Given the description of an element on the screen output the (x, y) to click on. 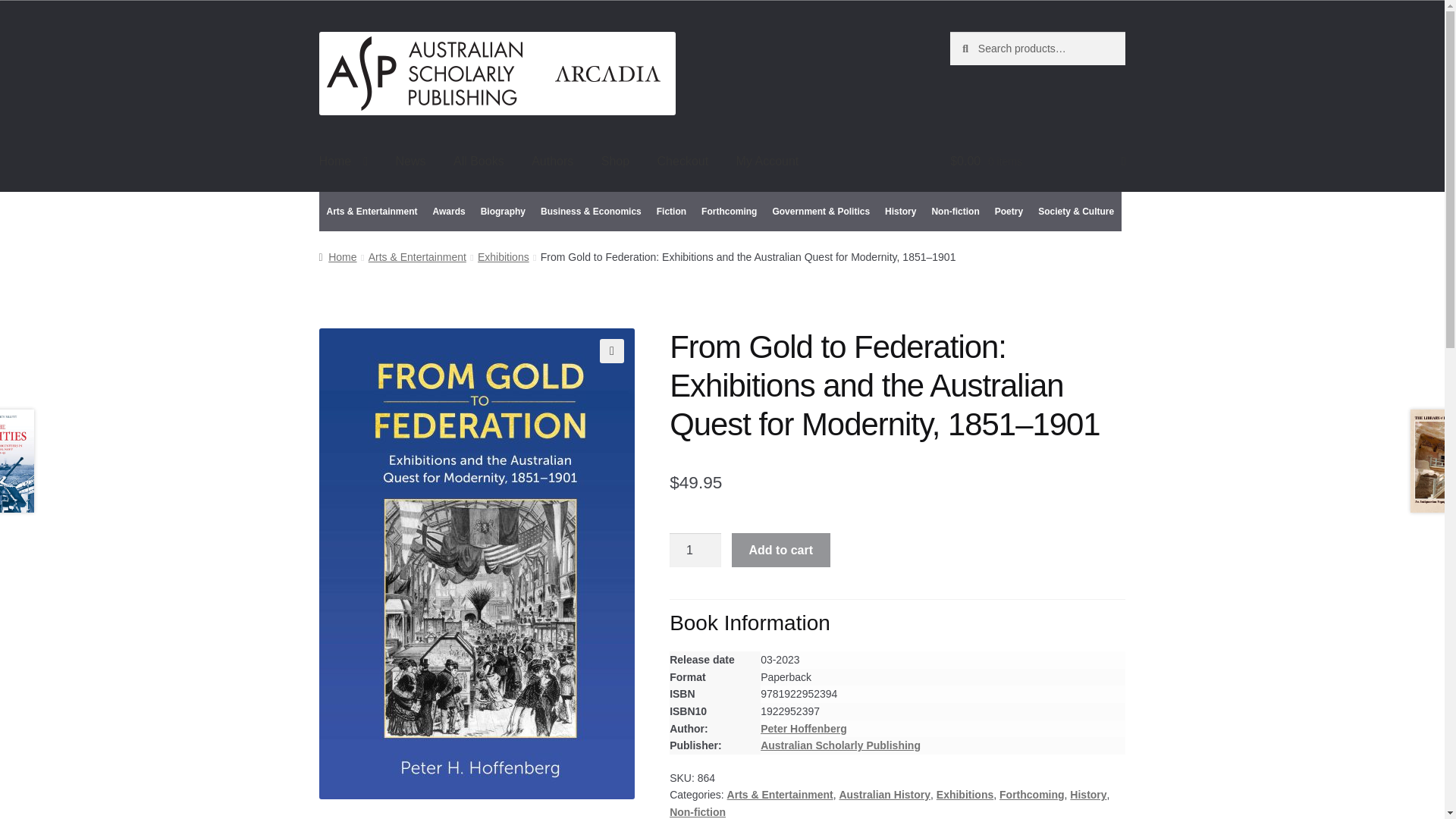
My Account (766, 161)
All Books (478, 161)
Checkout (682, 161)
1 (694, 550)
Shop (615, 161)
Home (343, 161)
View your shopping cart (1037, 161)
Authors (552, 161)
News (411, 161)
